Given the description of an element on the screen output the (x, y) to click on. 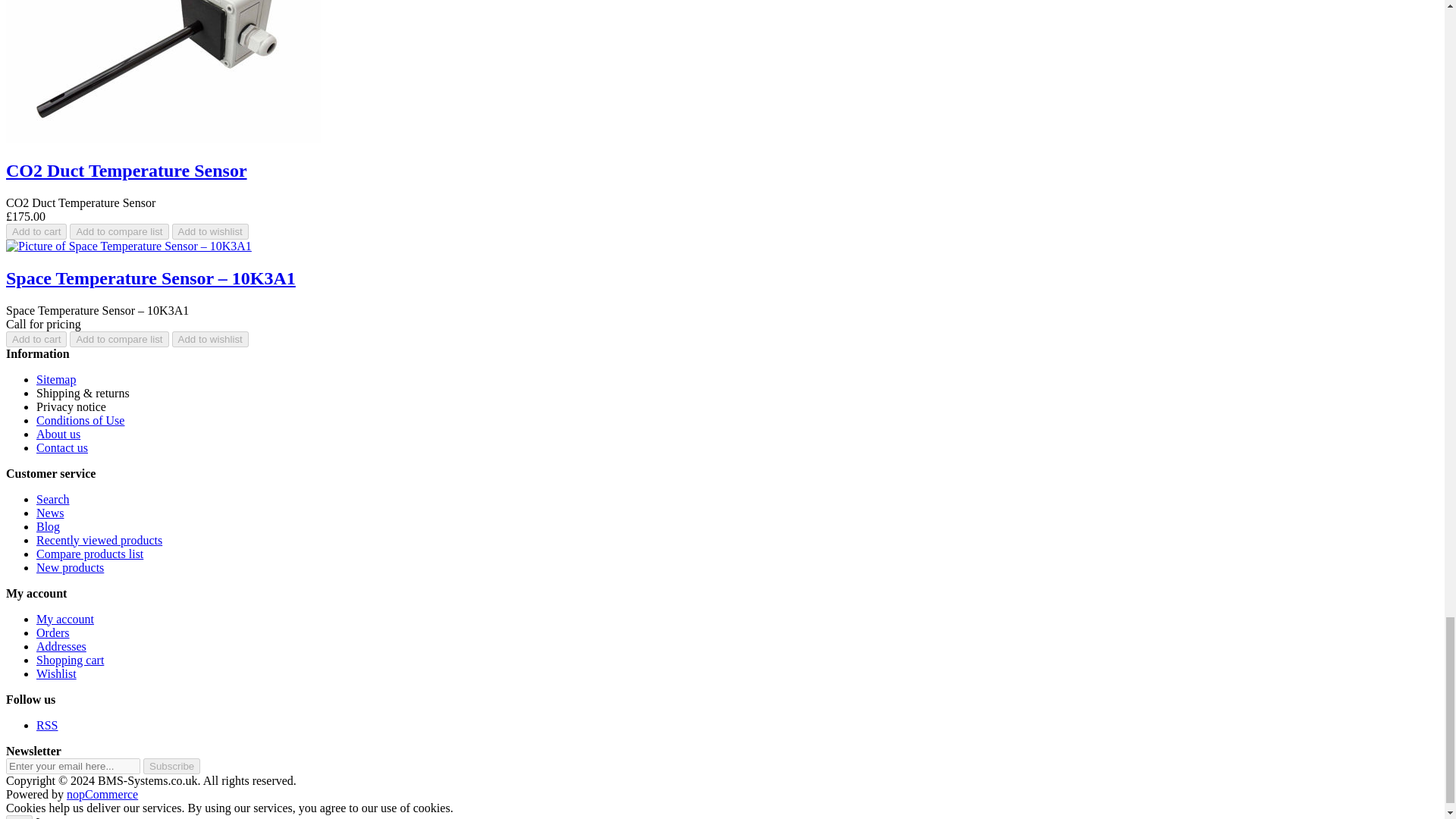
Show details for CO2 Duct Temperature Sensor (162, 137)
Add to cart (35, 231)
Add to wishlist (209, 231)
Add to cart (35, 338)
Add to wishlist (209, 231)
Show details for CO2 Duct Temperature Sensor (162, 71)
Subscribe (171, 765)
Add to wishlist (209, 338)
Add to compare list (118, 338)
Add to compare list (118, 231)
